Given the description of an element on the screen output the (x, y) to click on. 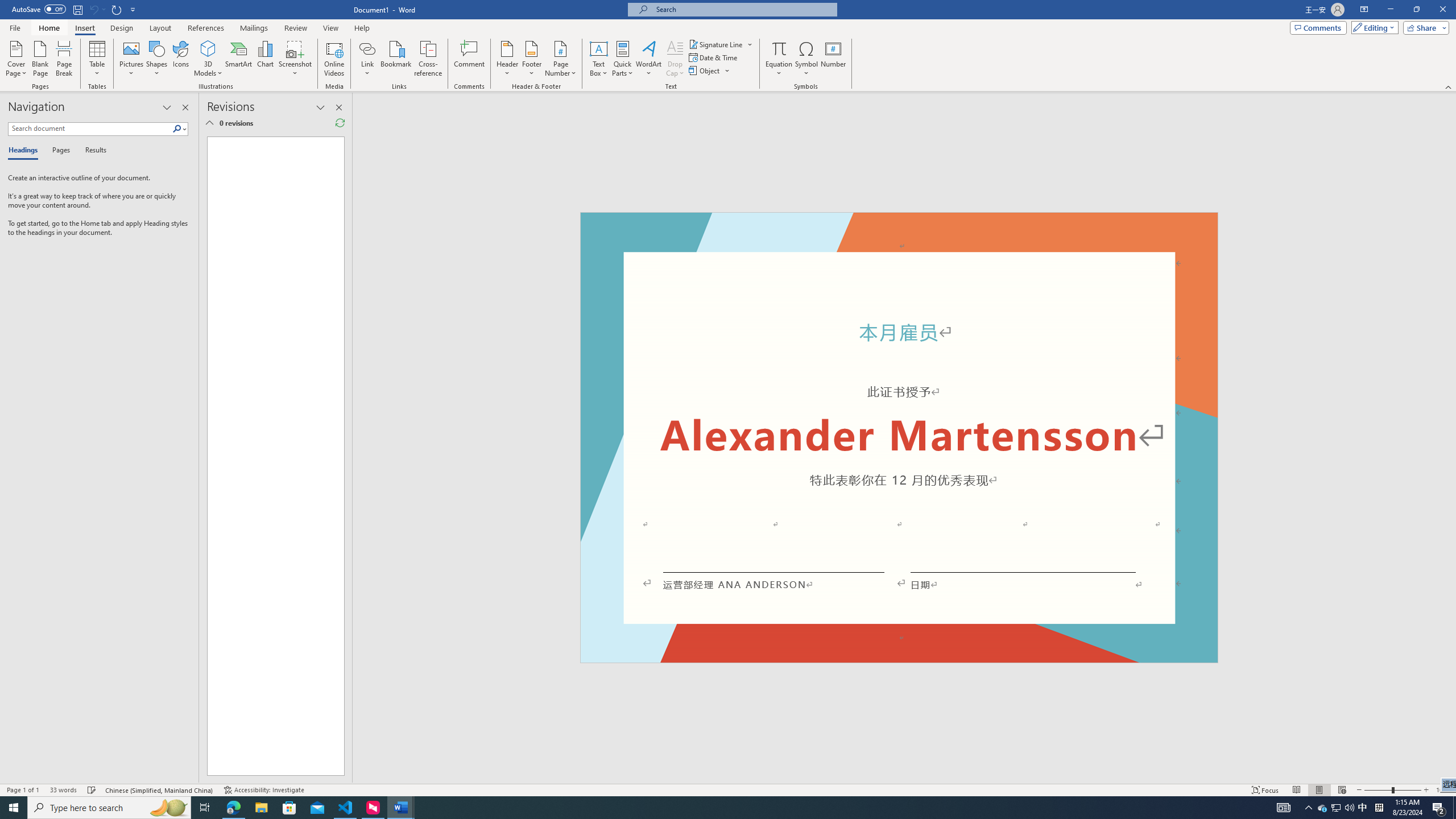
Icons (180, 58)
Footer -Section 1- (898, 657)
Header (507, 58)
Quick Parts (622, 58)
3D Models (208, 48)
Date & Time... (714, 56)
Can't Undo (92, 9)
SmartArt... (238, 58)
Online Videos... (333, 58)
Cover Page (16, 58)
